Given the description of an element on the screen output the (x, y) to click on. 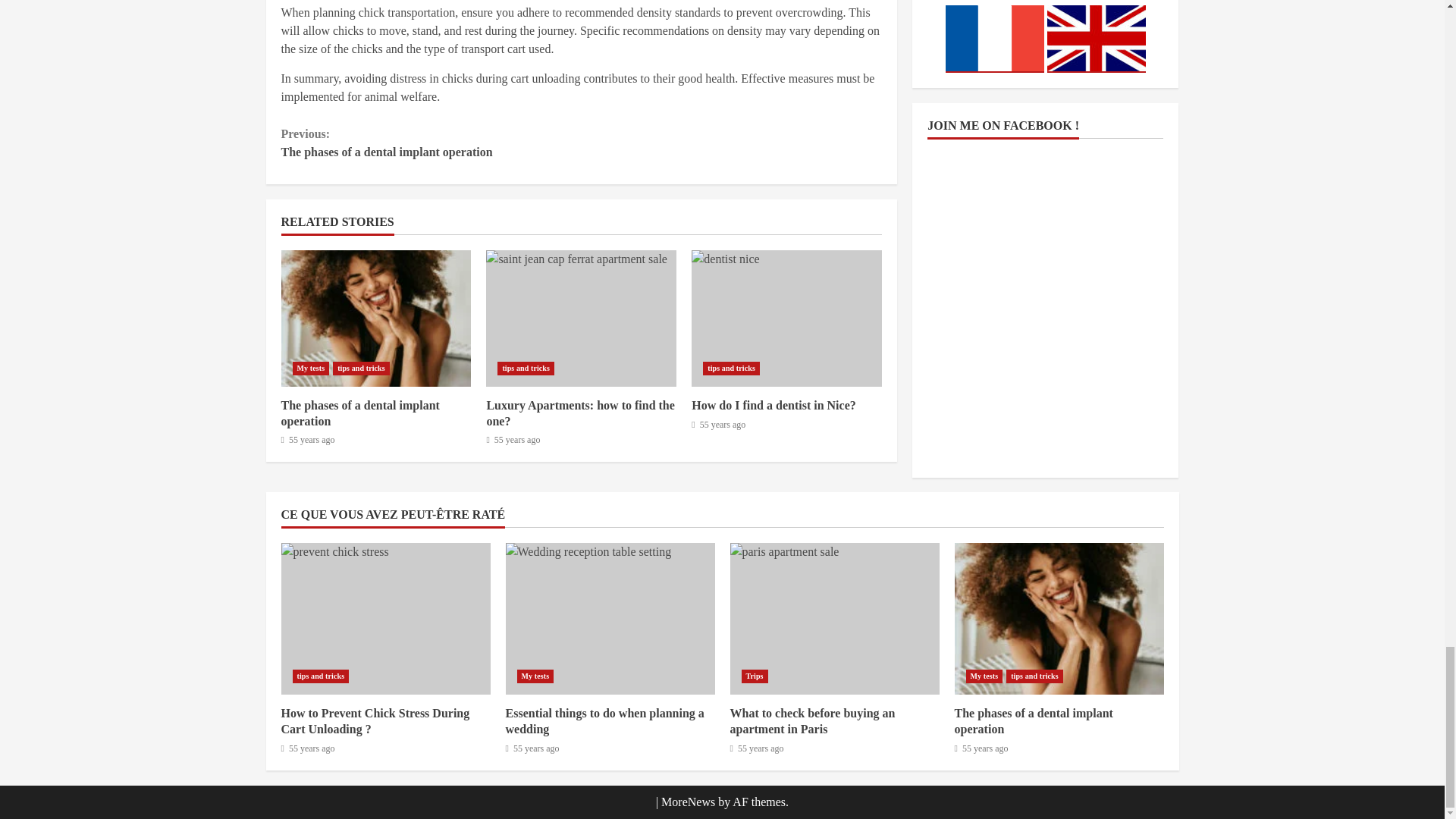
My tests (311, 368)
The phases of a dental implant operation (375, 318)
